Given the description of an element on the screen output the (x, y) to click on. 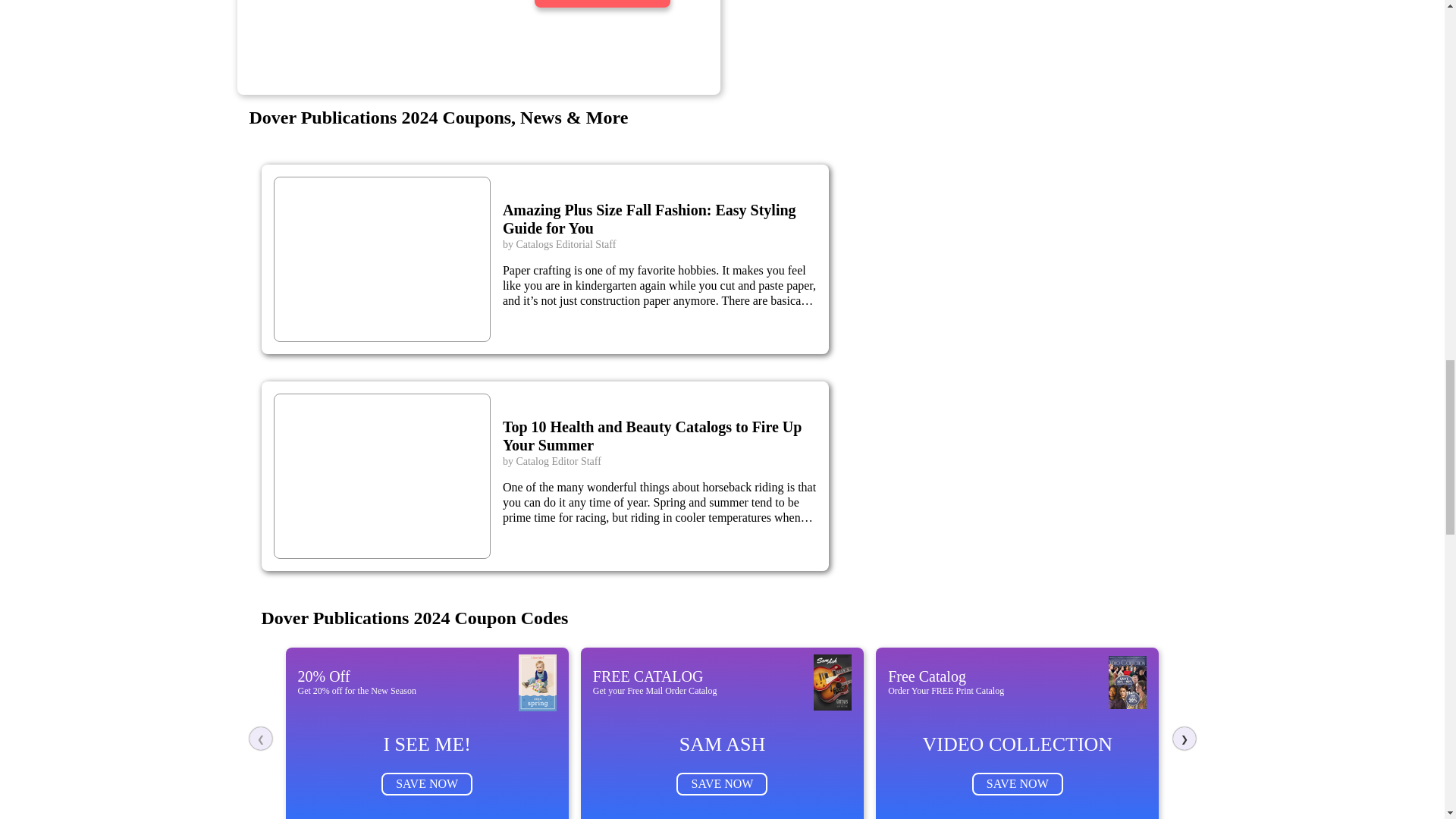
Order Free Catalogs from New Braunfels Smokehouse (358, 26)
